Given the description of an element on the screen output the (x, y) to click on. 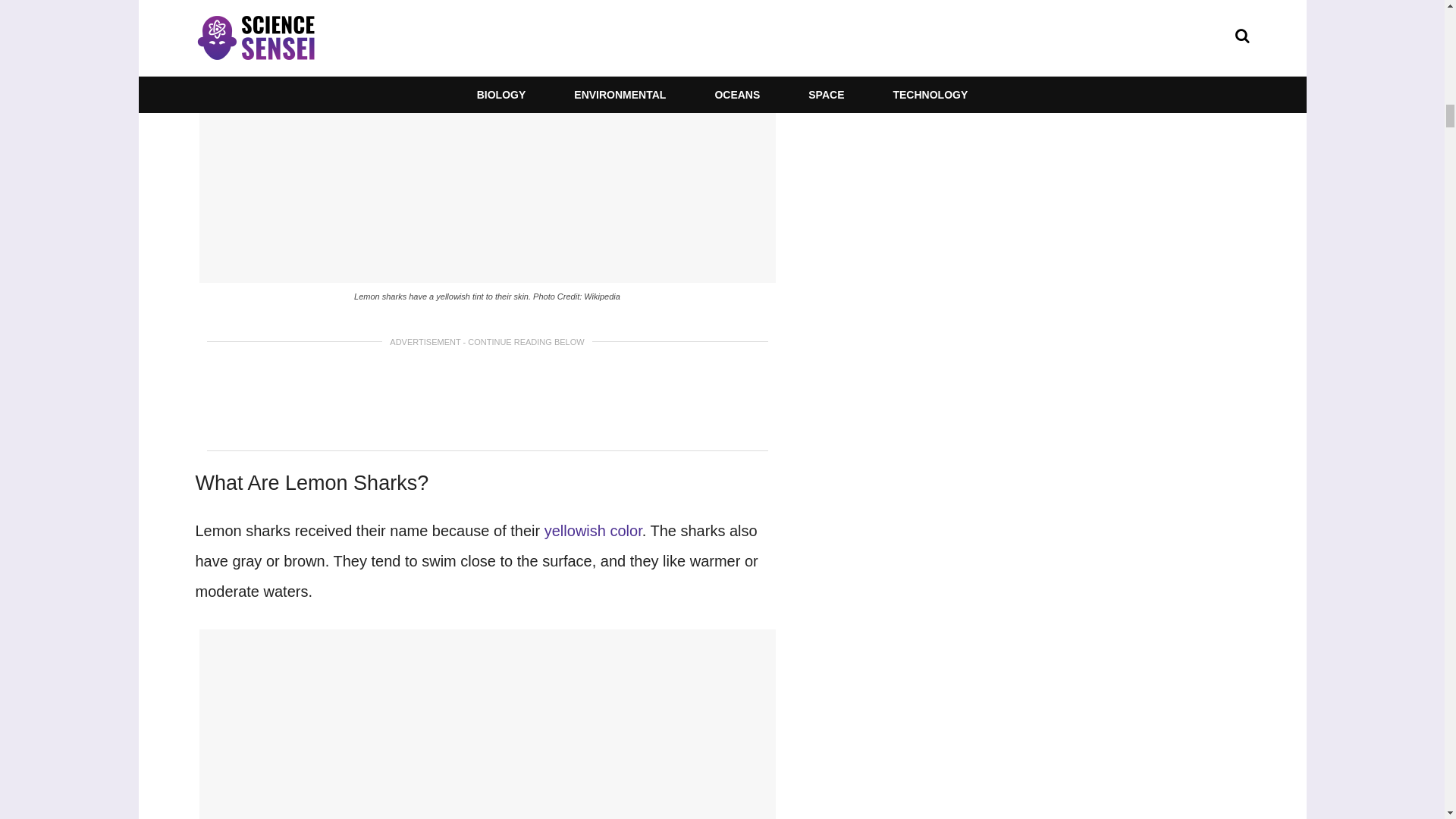
yellowish color (593, 530)
